Given the description of an element on the screen output the (x, y) to click on. 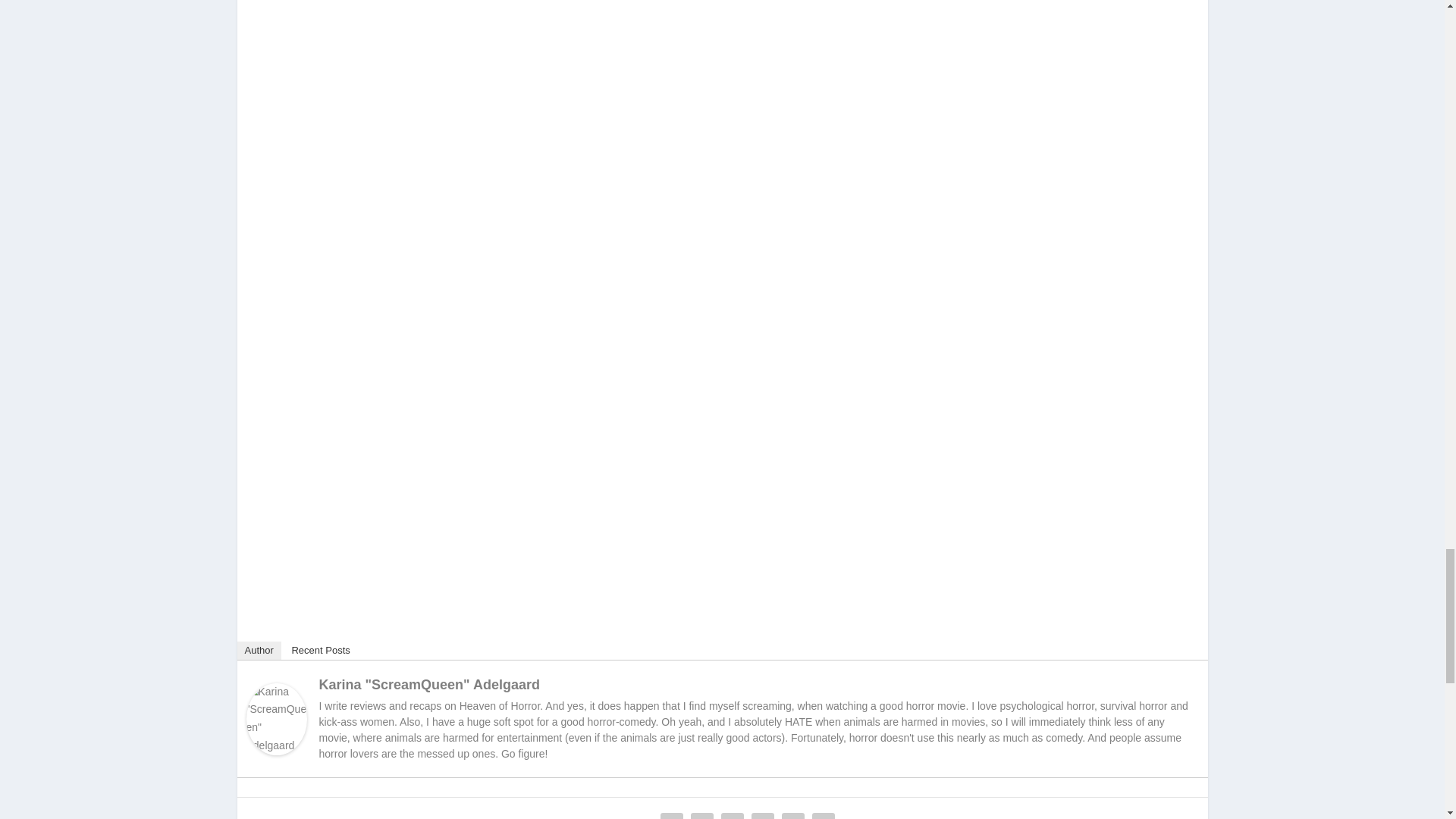
Recent Posts (319, 650)
Karina "ScreamQueen" Adelgaard (429, 684)
Author (258, 650)
Karina "ScreamQueen" Adelgaard (275, 751)
